Given the description of an element on the screen output the (x, y) to click on. 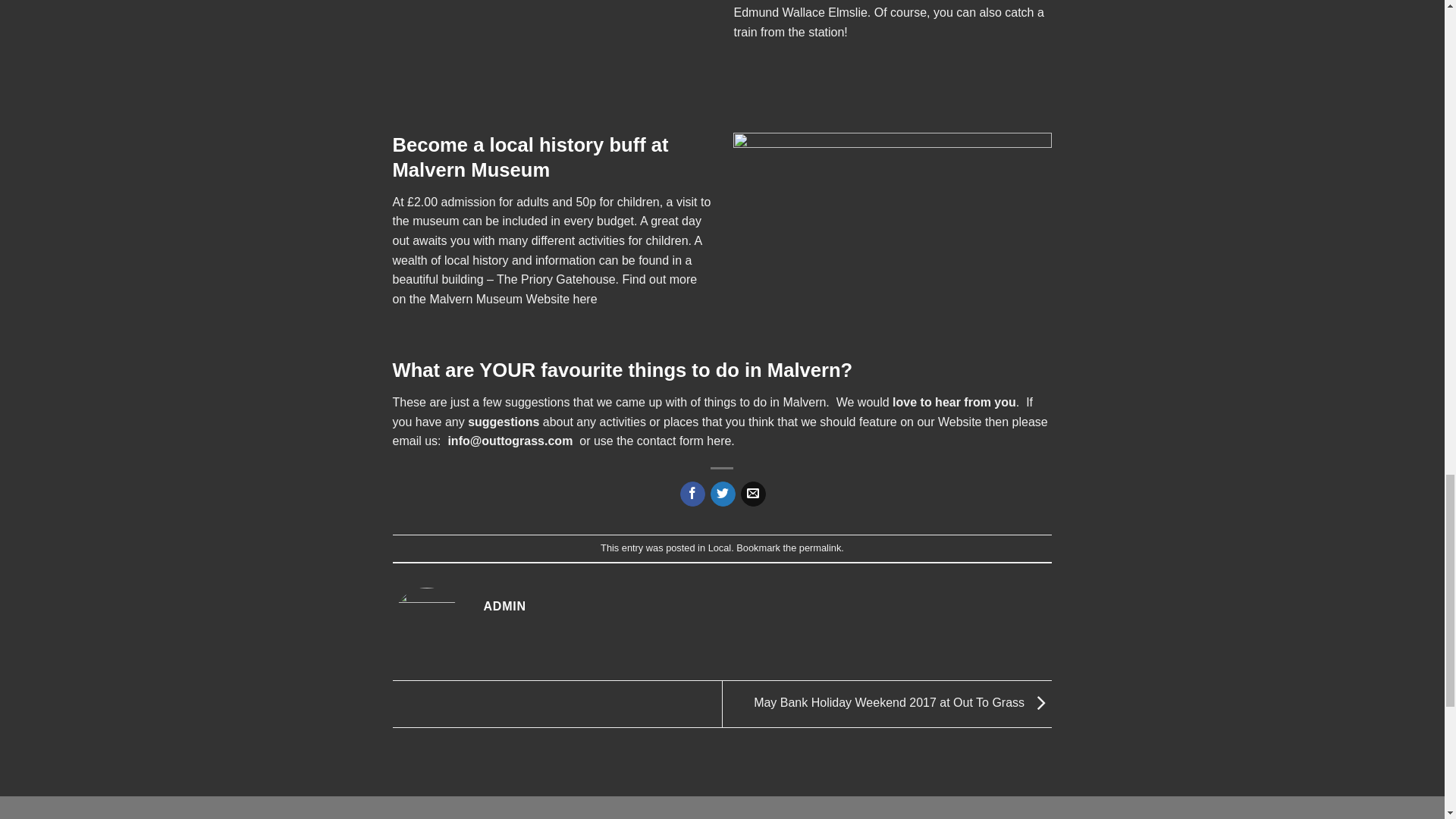
Share on Facebook (691, 493)
Email to a Friend (753, 493)
Share on Twitter (722, 493)
Permalink to 7 things to do in Malvern (820, 547)
